Given the description of an element on the screen output the (x, y) to click on. 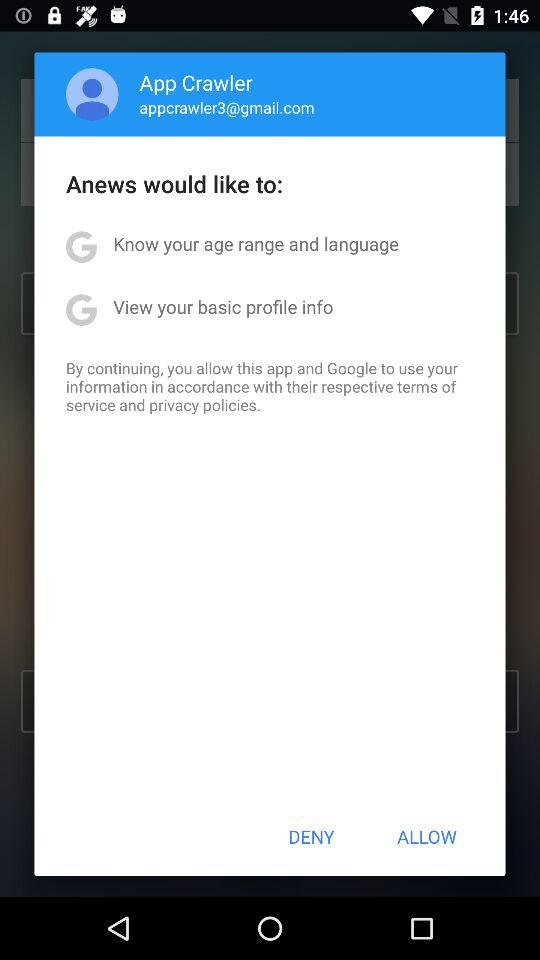
swipe to the view your basic icon (223, 306)
